Given the description of an element on the screen output the (x, y) to click on. 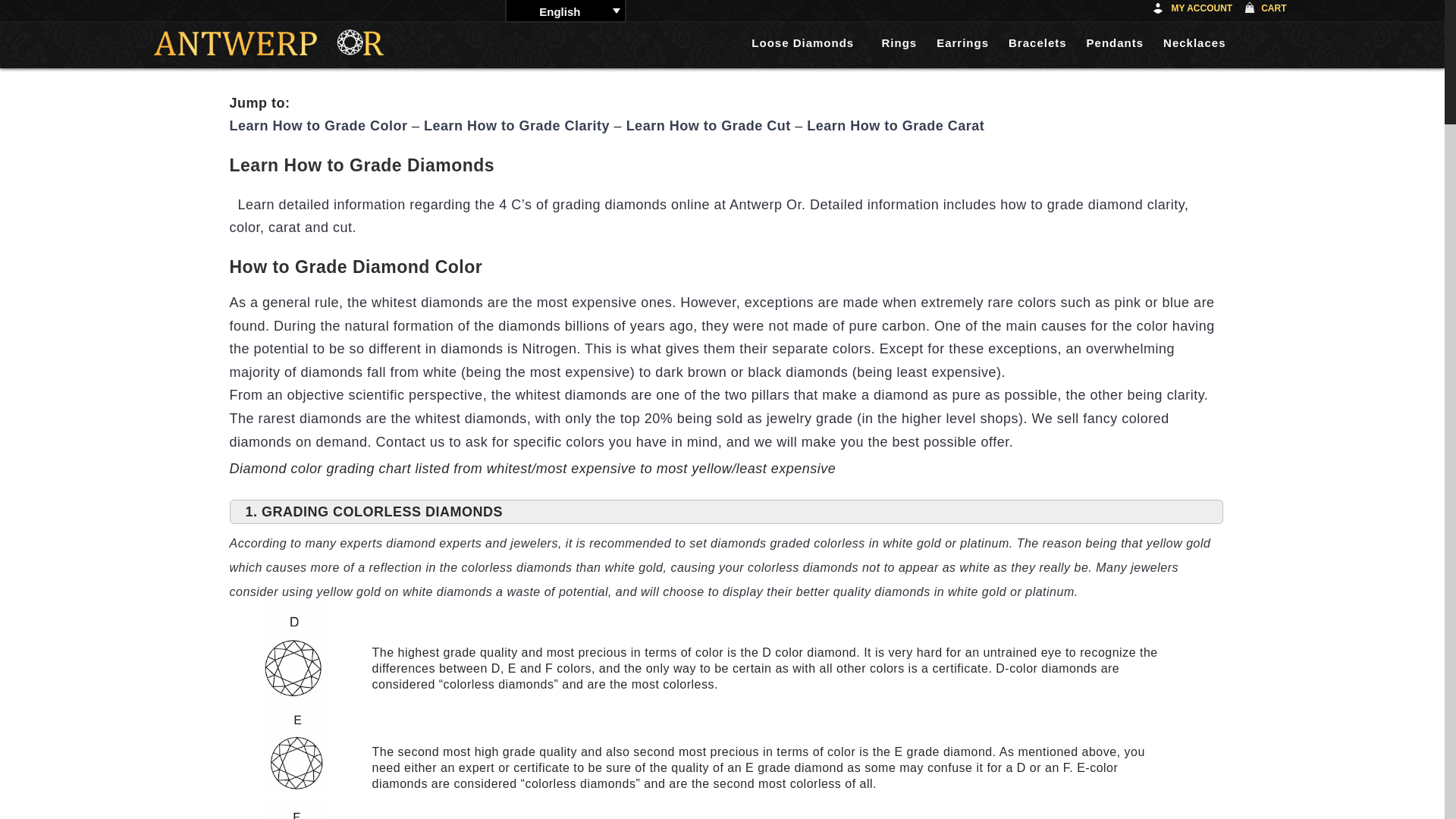
Rings (904, 42)
Pendants (1121, 42)
Learn How to Grade Cut (708, 125)
Necklaces (1200, 42)
English (565, 10)
Bracelets (1043, 42)
Loose Diamonds   (812, 42)
MY ACCOUNT (1195, 10)
Learn How to Grade Color (317, 125)
Learn How to Grade Clarity (516, 125)
